Given the description of an element on the screen output the (x, y) to click on. 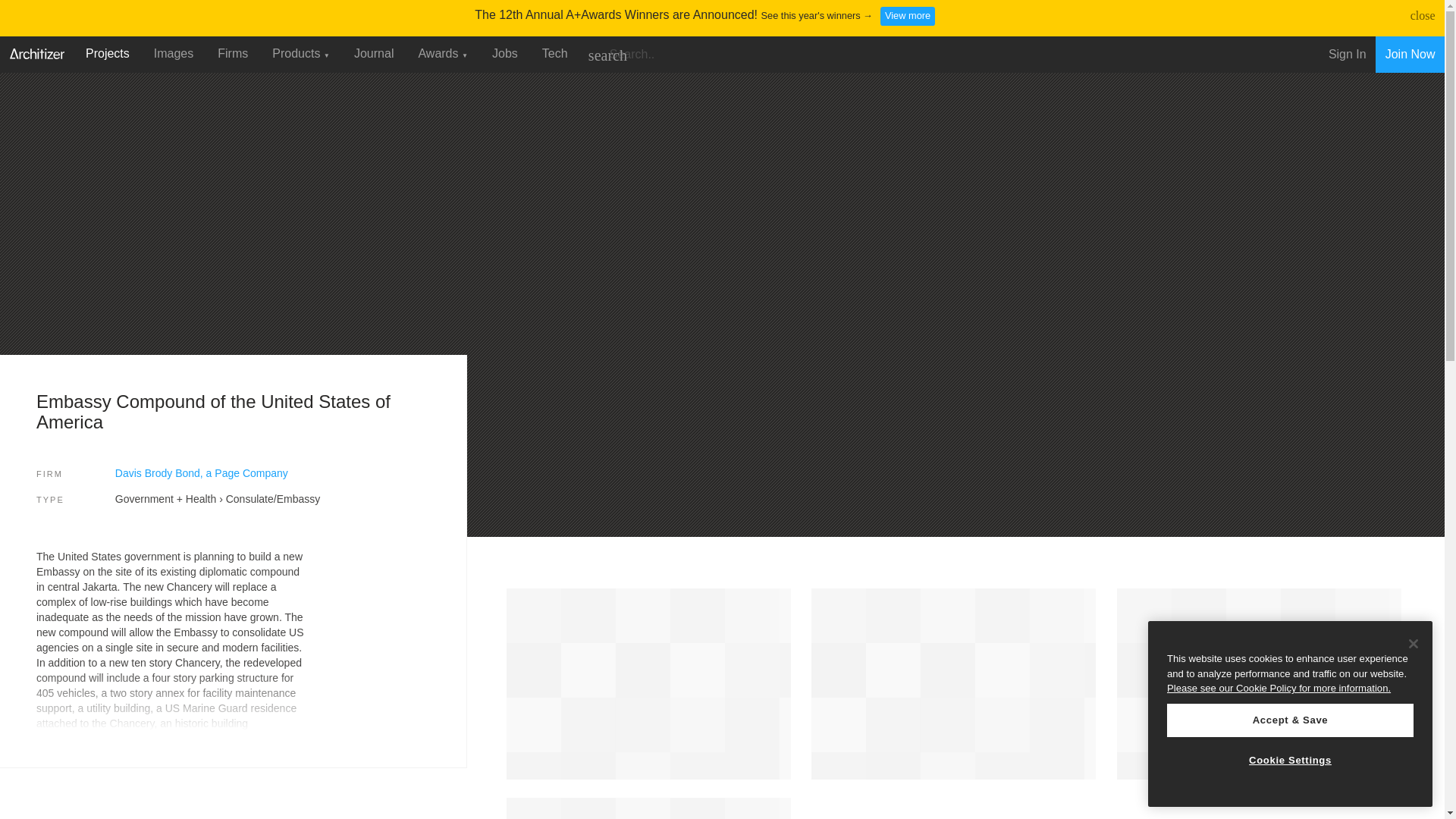
Firms (232, 53)
Images (173, 53)
Tech (554, 53)
search (606, 55)
Architizer (36, 51)
close (1422, 15)
3rd party ad content (131, 806)
Jobs (504, 53)
Sign In (1347, 54)
Projects (107, 53)
